Given the description of an element on the screen output the (x, y) to click on. 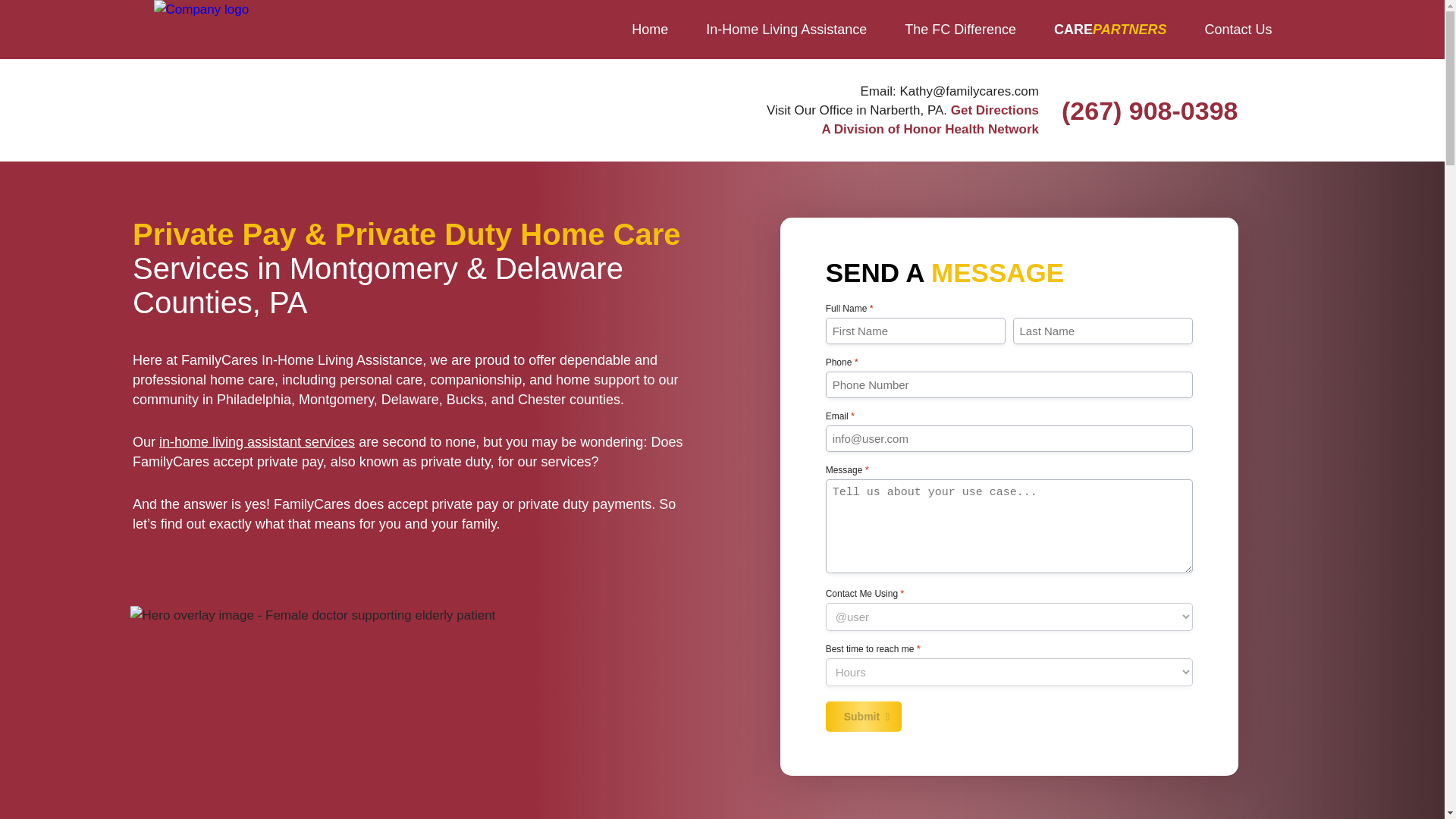
In-Home Living Assistance (786, 29)
The FC Difference (960, 29)
Care Partners (1110, 29)
In-Home Living Assistance (786, 29)
Contact Us (1237, 29)
CAREPARTNERS (1110, 29)
in-home living assistant services (256, 441)
Contact Us (1237, 29)
The FC Difference (960, 29)
Home (649, 29)
